Given the description of an element on the screen output the (x, y) to click on. 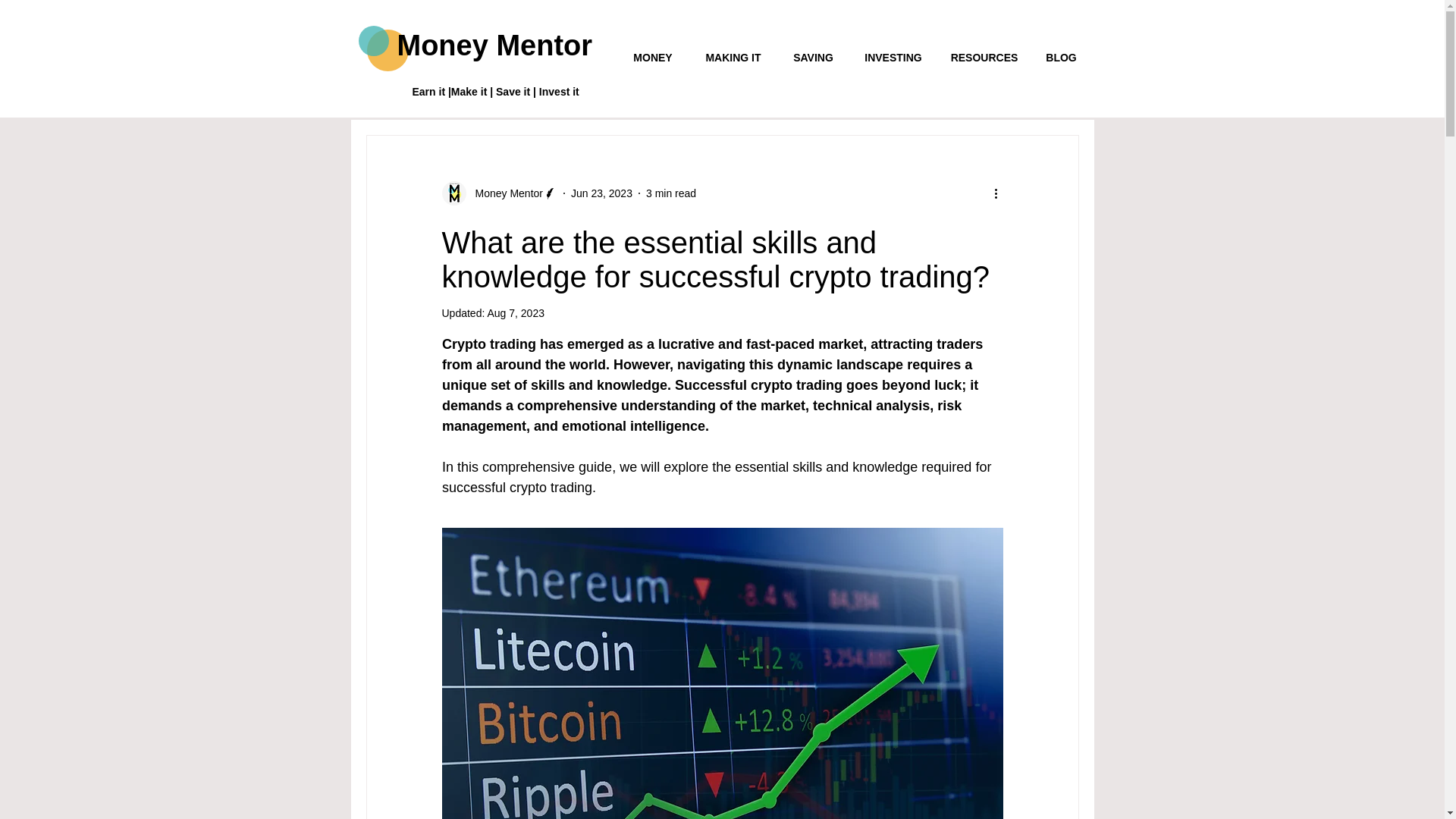
MAKING IT (732, 58)
Jun 23, 2023 (600, 192)
3 min read (670, 192)
SAVING (812, 58)
Money Mentor (494, 45)
Money Mentor  (503, 192)
Aug 7, 2023 (515, 313)
MONEY (652, 58)
